Given the description of an element on the screen output the (x, y) to click on. 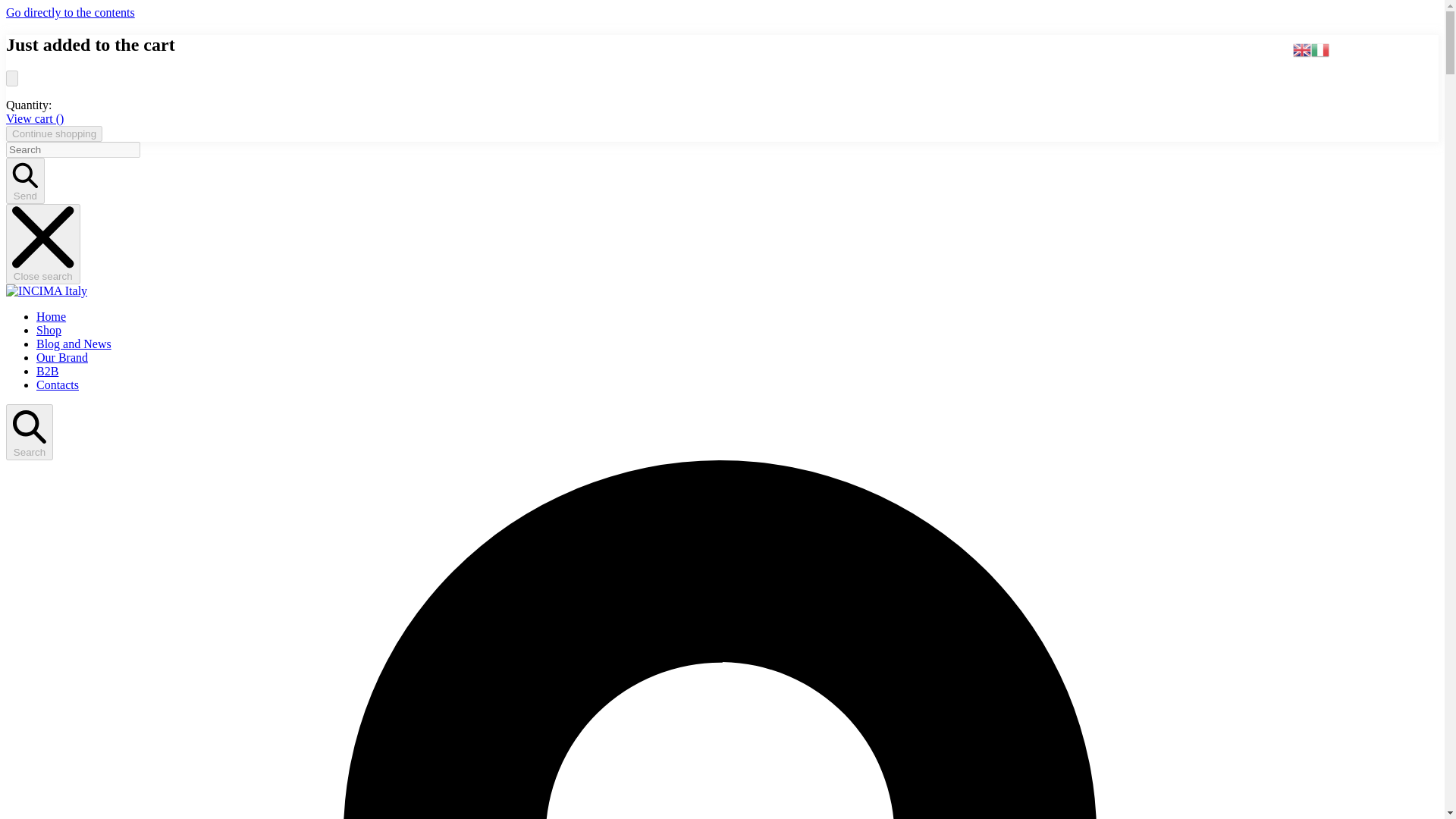
Go directly to the contents (70, 11)
Close search (42, 243)
Contacts (57, 384)
B2B (47, 370)
Blog and News (74, 343)
Italiano (1320, 48)
English (1301, 48)
Home (50, 316)
Shop (48, 329)
Our Brand (61, 357)
Continue shopping (53, 133)
